Given the description of an element on the screen output the (x, y) to click on. 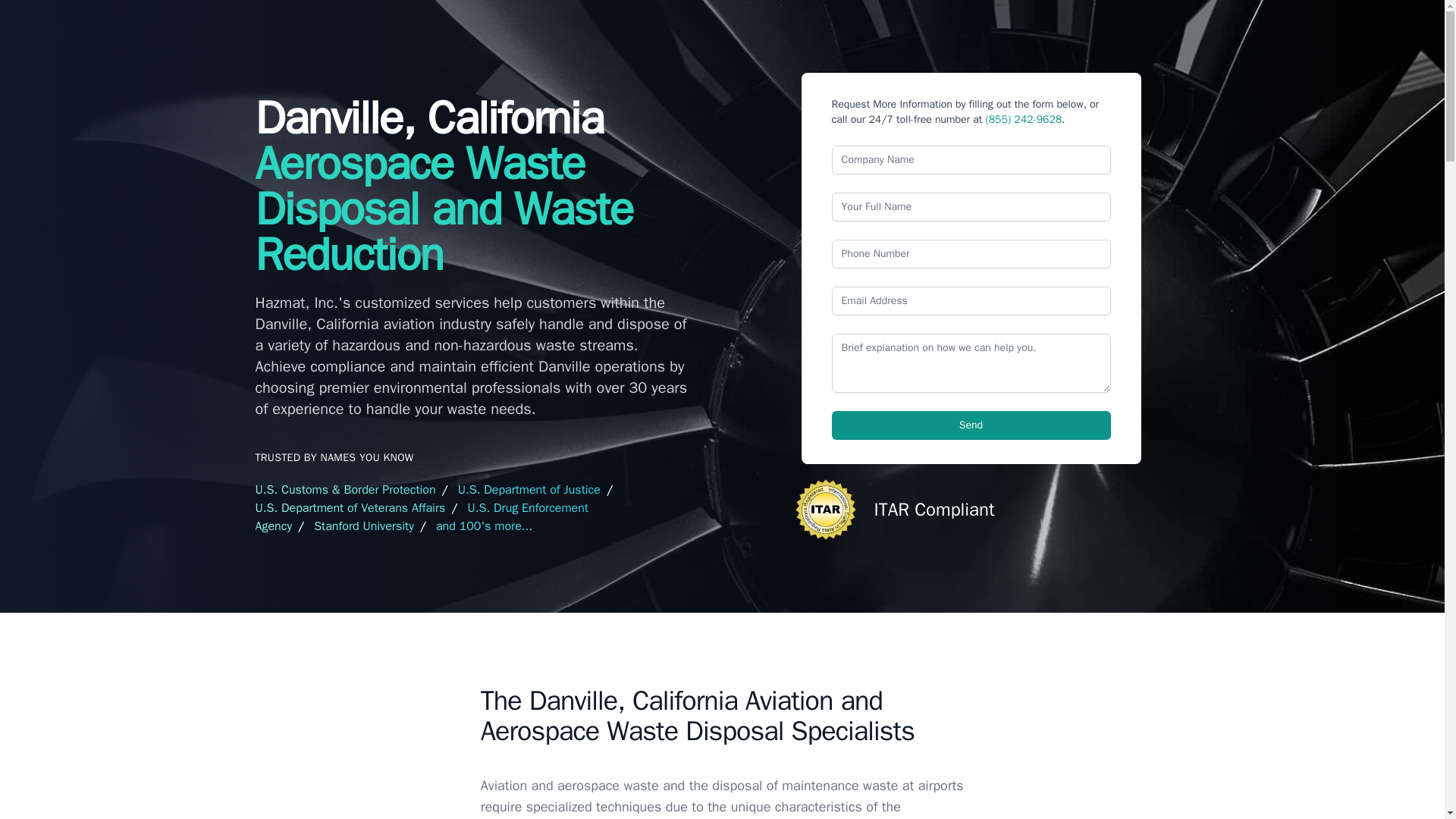
Send (970, 425)
